Given the description of an element on the screen output the (x, y) to click on. 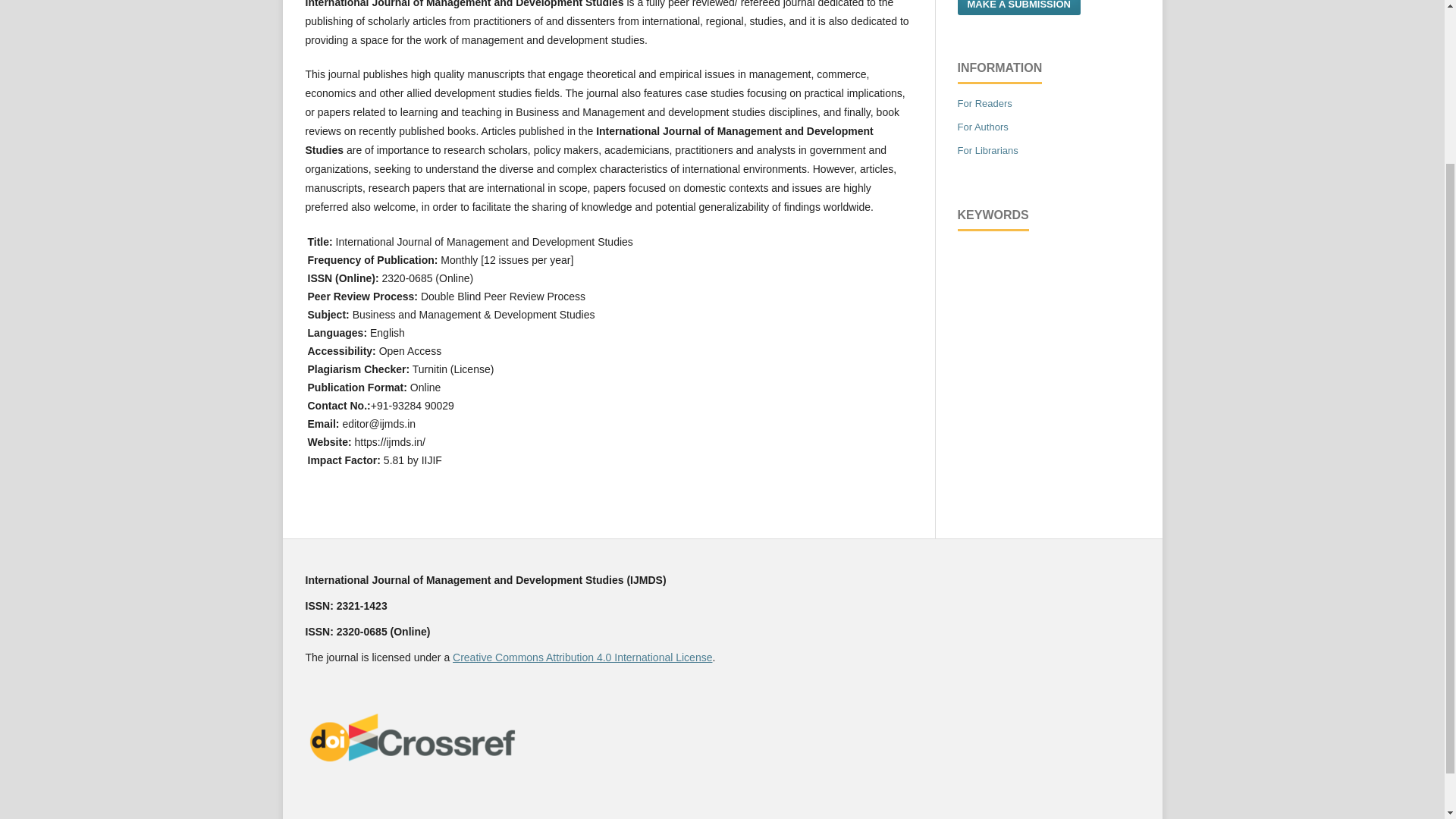
For Authors (981, 126)
MAKE A SUBMISSION (1018, 7)
For Readers (983, 102)
For Librarians (986, 150)
Creative Commons Attribution 4.0 International License (581, 657)
